Given the description of an element on the screen output the (x, y) to click on. 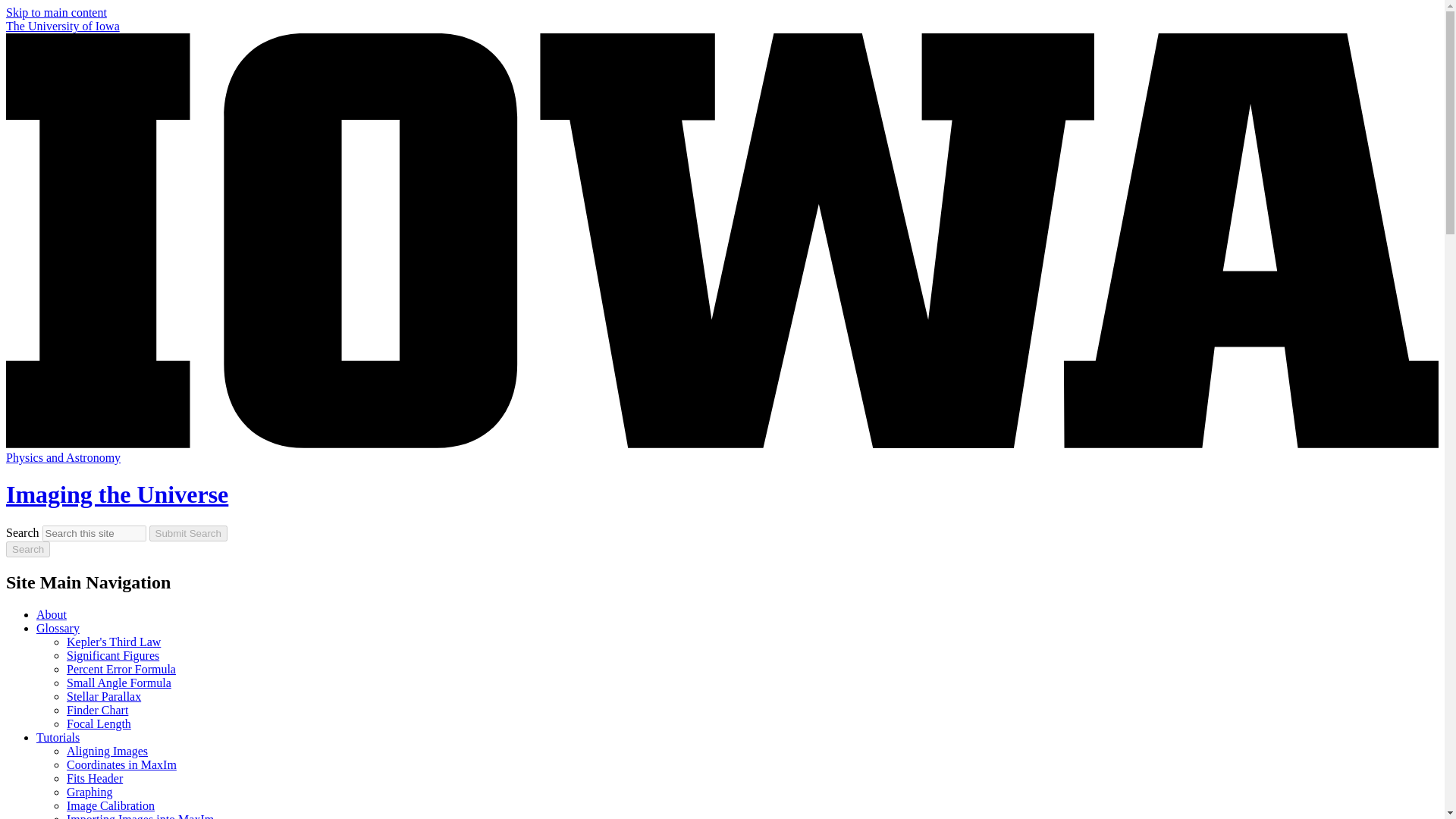
Small Angle Formula (118, 682)
Fits Header (94, 778)
Glossary (58, 627)
Search (27, 549)
Stellar Parallax (103, 696)
Coordinates in MaxIm (121, 764)
Physics and Astronomy (62, 457)
About (51, 614)
Submit Search (188, 533)
Image Calibration (110, 805)
